Given the description of an element on the screen output the (x, y) to click on. 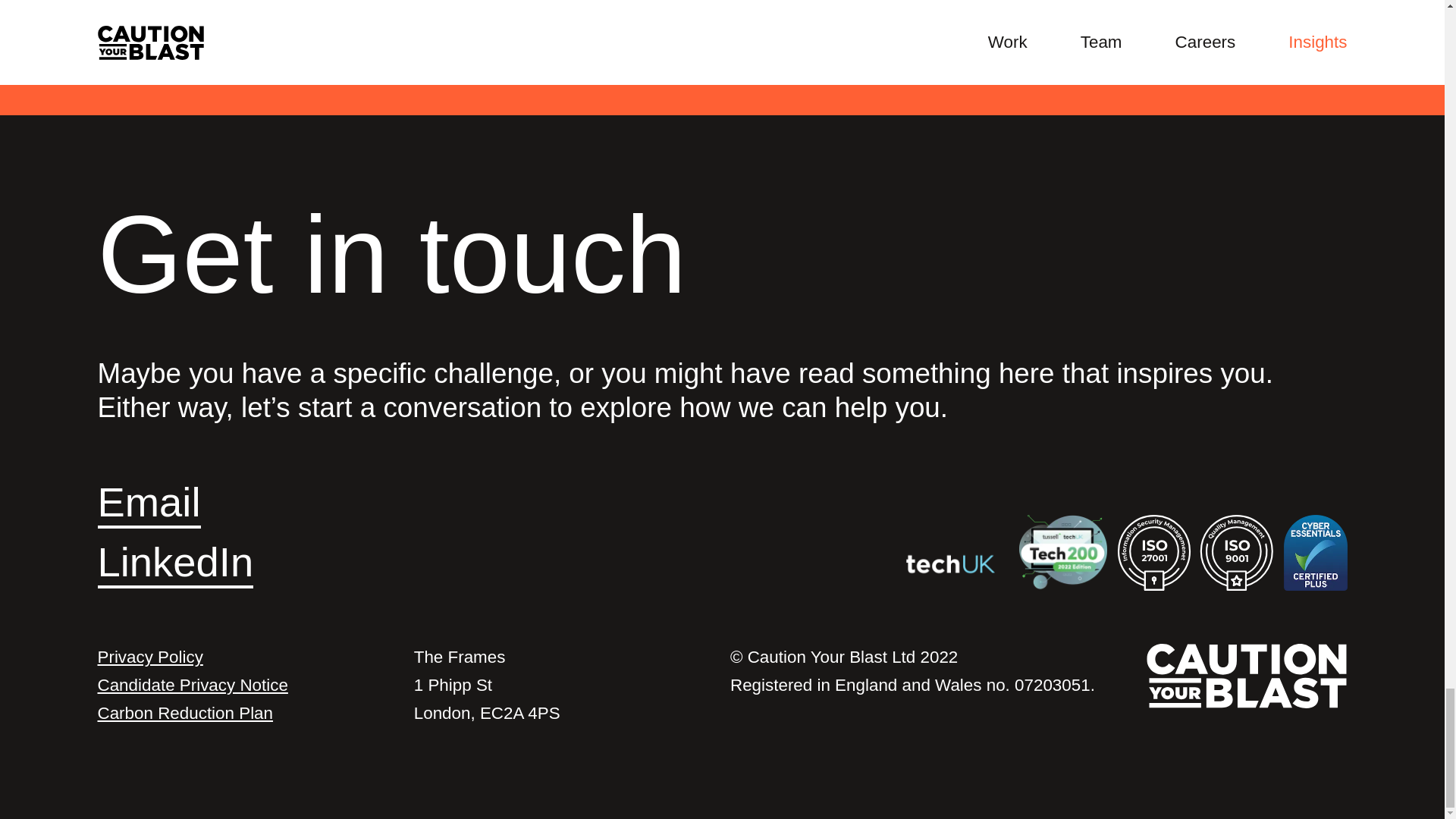
Carbon Reduction Plan (247, 714)
LinkedIn (197, 562)
Candidate Privacy Notice (247, 685)
Privacy Policy (247, 657)
Email (170, 502)
